Given the description of an element on the screen output the (x, y) to click on. 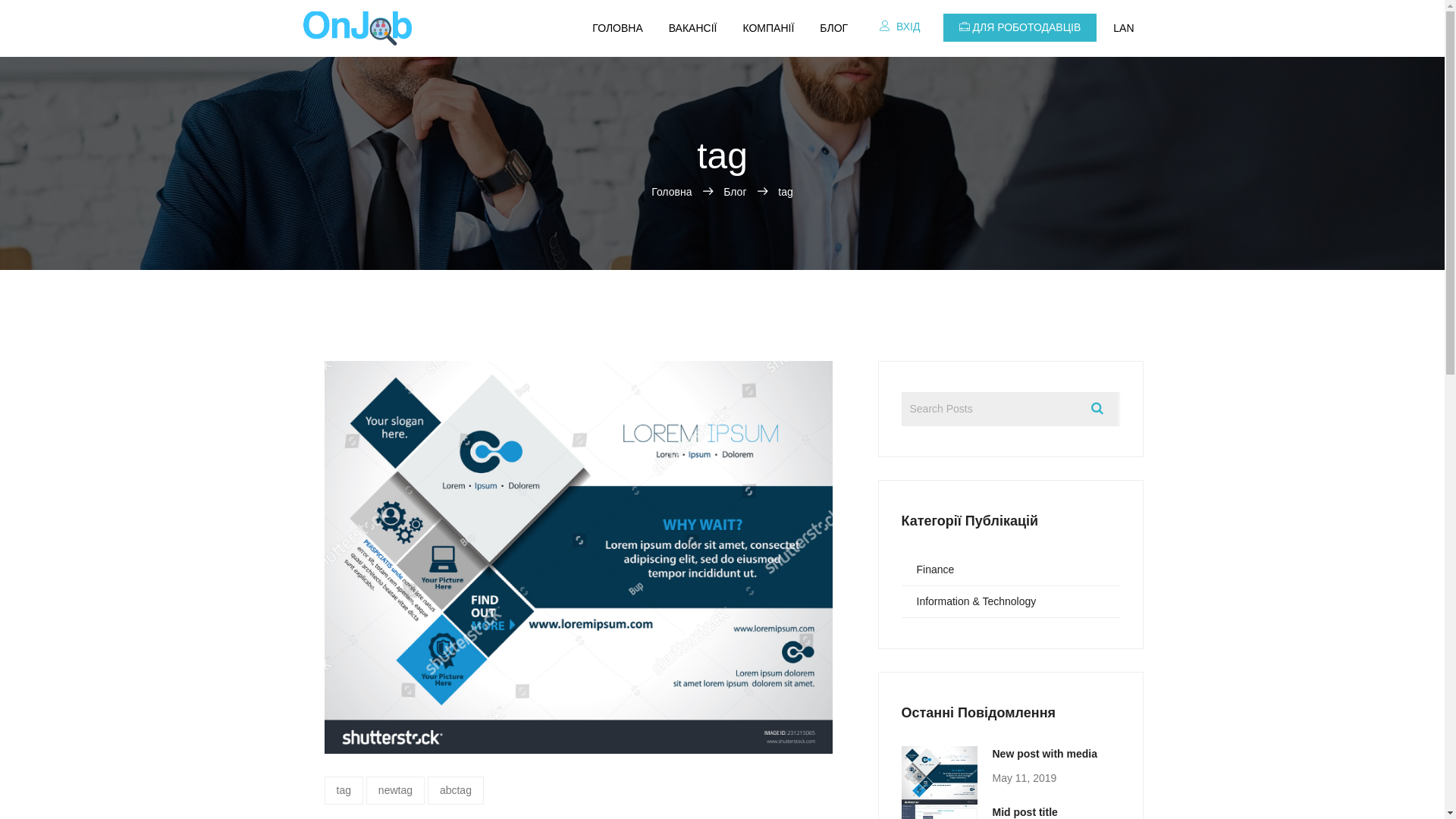
Finance Element type: text (1010, 569)
newtag Element type: text (395, 790)
New post with media Element type: text (1043, 754)
tag Element type: text (343, 790)
tag Element type: text (785, 191)
abctag Element type: text (455, 790)
LAN Element type: text (1123, 28)
Information & Technology Element type: text (1010, 600)
